Given the description of an element on the screen output the (x, y) to click on. 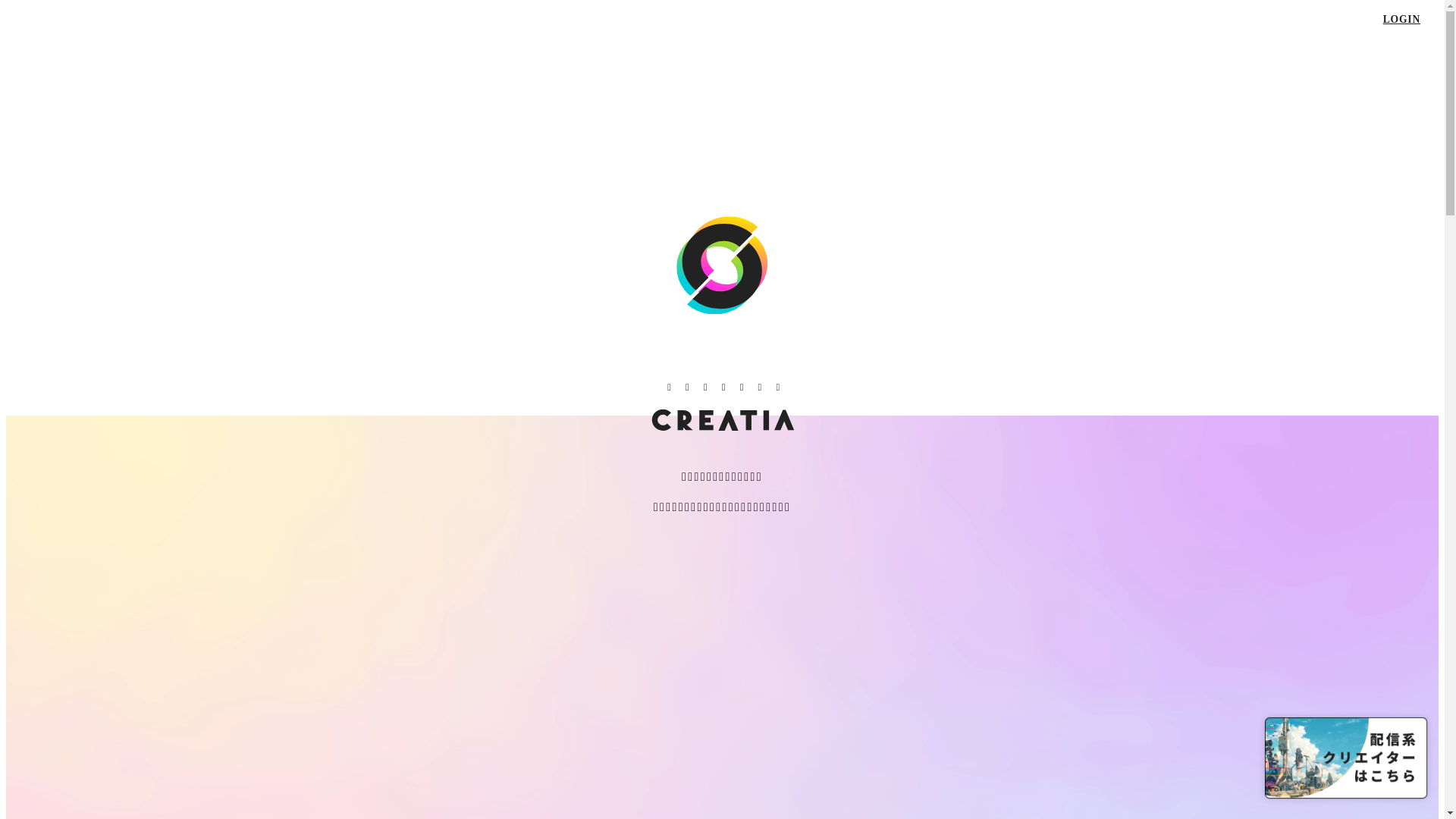
LOGIN Element type: text (1401, 19)
